Given the description of an element on the screen output the (x, y) to click on. 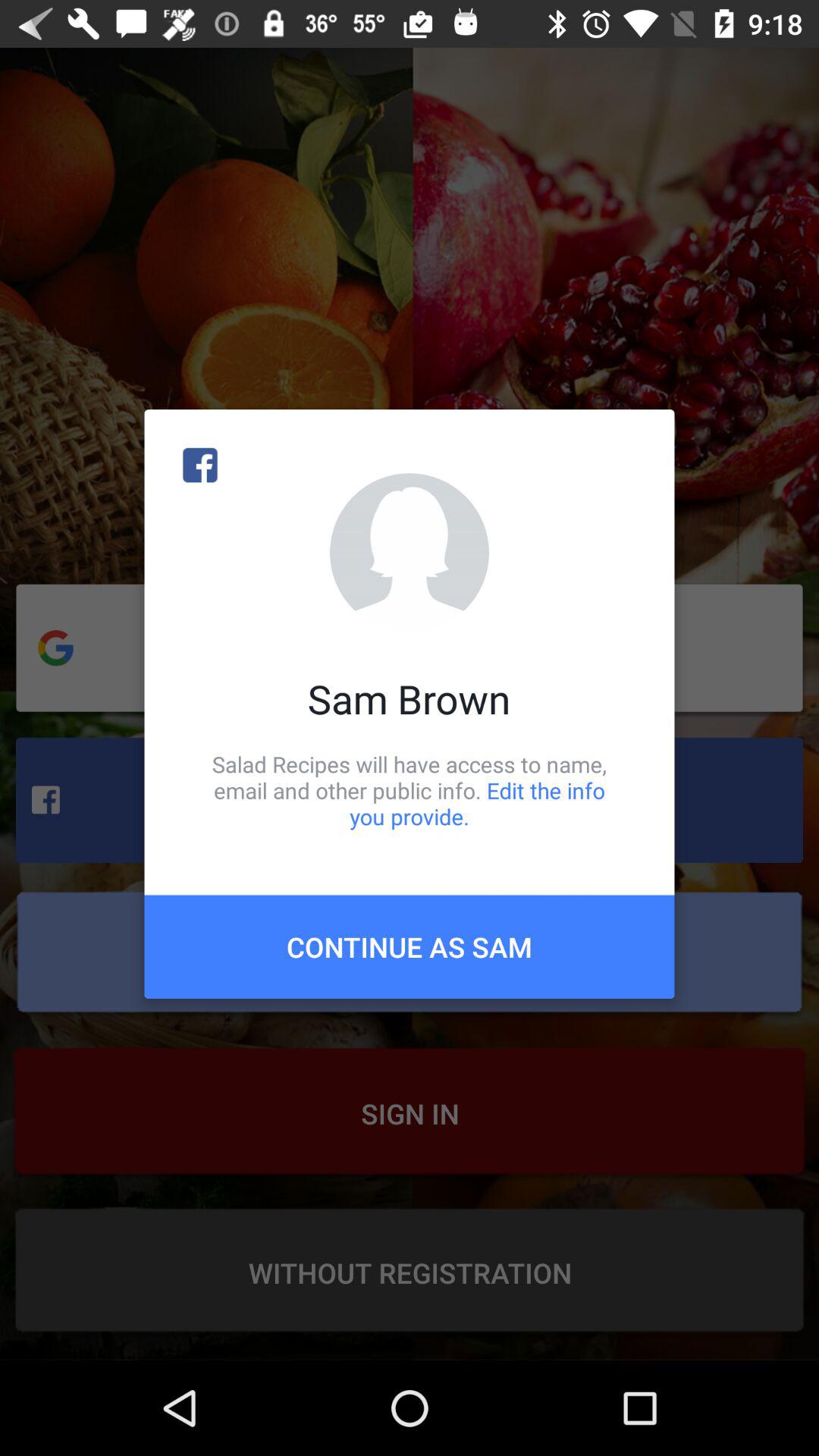
launch the icon above continue as sam (409, 790)
